Given the description of an element on the screen output the (x, y) to click on. 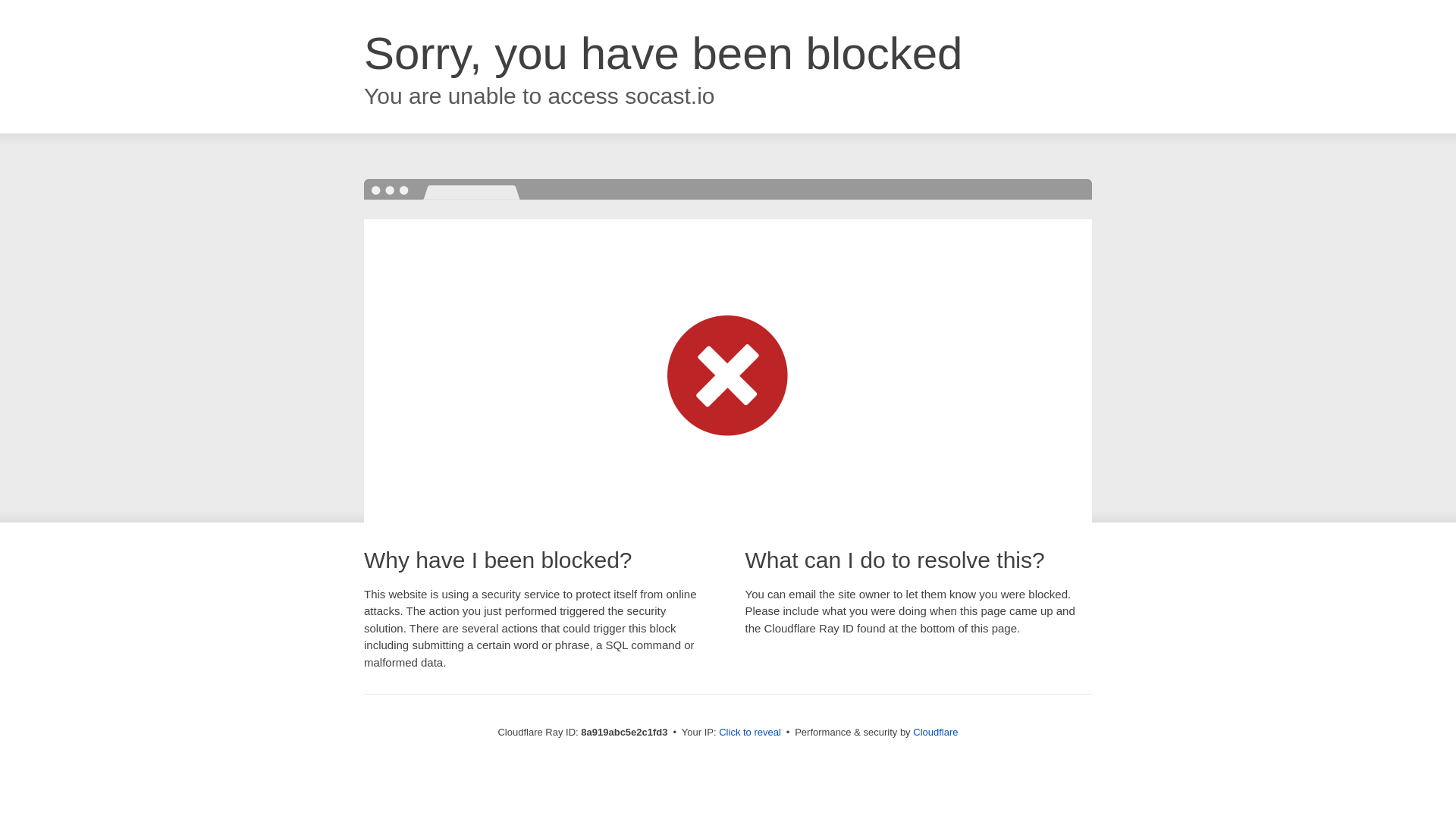
Cloudflare (935, 731)
Click to reveal (749, 732)
